Given the description of an element on the screen output the (x, y) to click on. 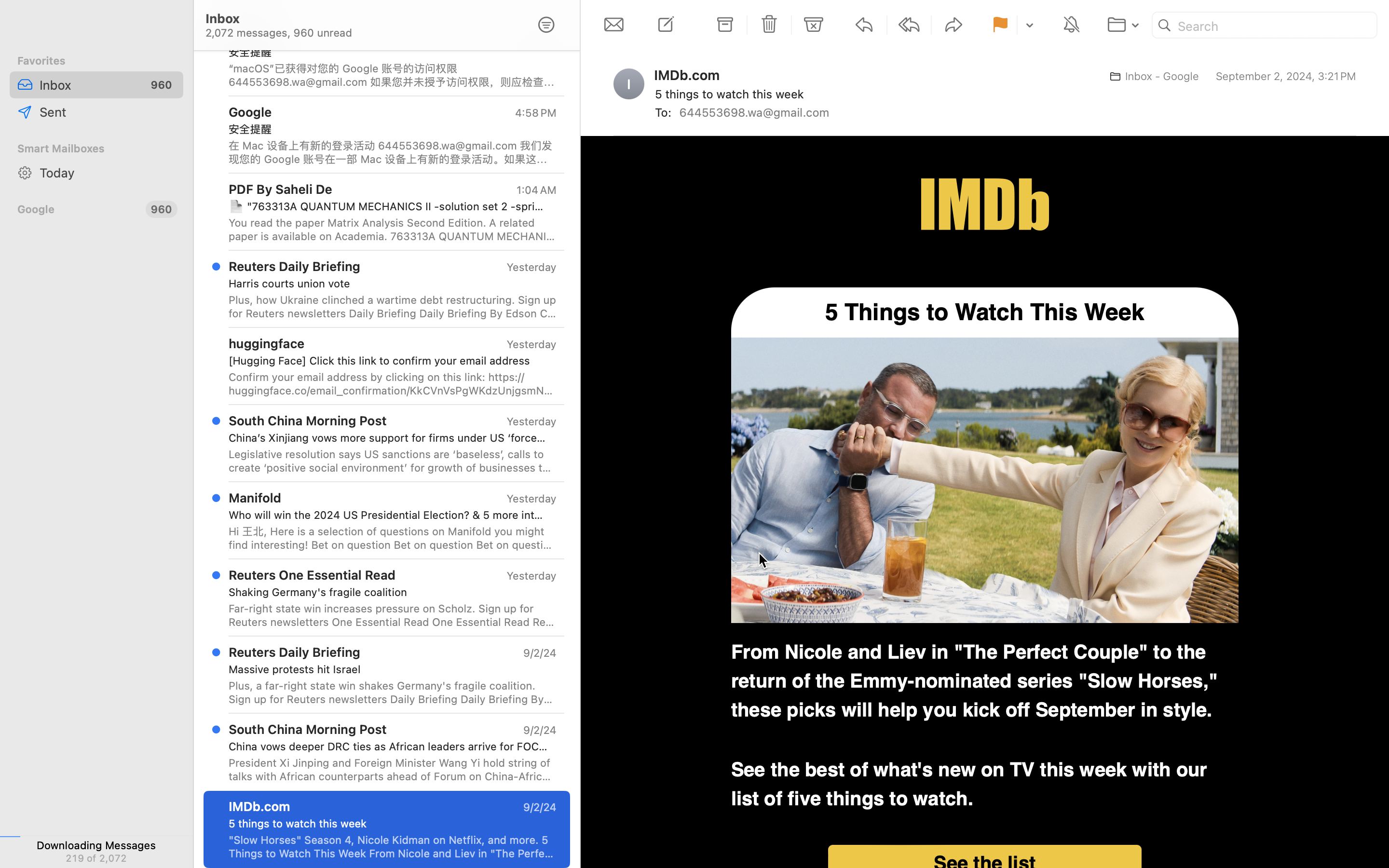
644553698.wa@gmail.com Element type: AXStaticText (758, 112)
201 of 2,072 Element type: AXStaticText (96, 857)
You read the paper Matrix Analysis Second Edition. A related paper is available on Academia. 763313A QUANTUM MECHANICS II -solution set 2 -spring 2014 Saheli De 237 Views View PDF ▸ Download PDF ⬇ Your recent reading history: Matrix Analysis Second Edition - Benedict Cui Want fewer recommendations like this one? 580 California St., Suite 400, San Francisco, CA, 94104 Unsubscribe Privacy Policy Terms of Service © 2024 Academia Element type: AXStaticText (392, 229)
Who will win the 2024 US Presidential Election? & 5 more interesting markets on Manifold Element type: AXStaticText (388, 514)
Downloading Messages Element type: AXStaticText (96, 844)
